Given the description of an element on the screen output the (x, y) to click on. 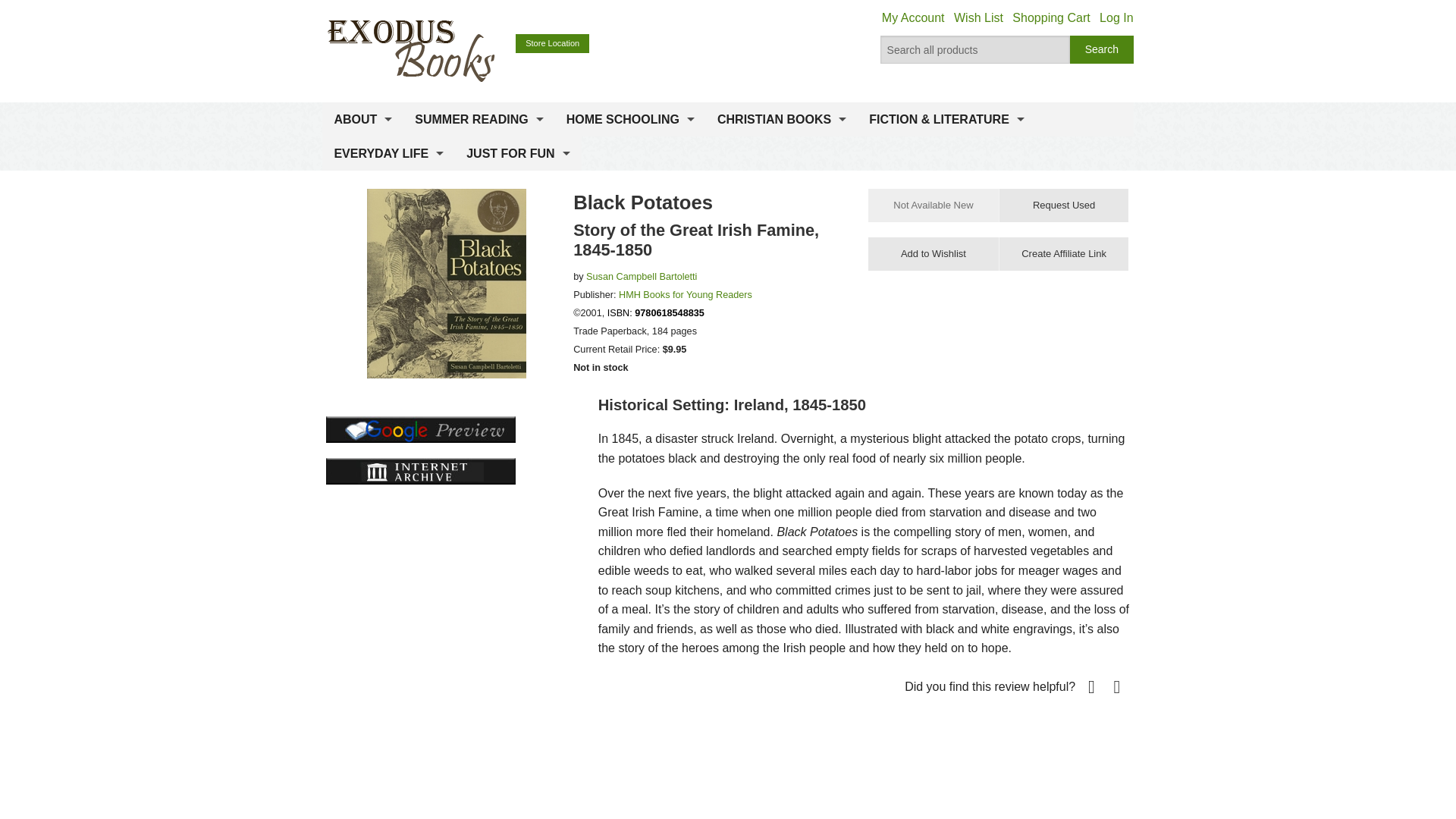
Wish List (978, 17)
request used (1063, 205)
SUMMER READING (478, 119)
not available new (932, 205)
Add to Wishlist (932, 254)
Request Used (1063, 205)
Search (1102, 49)
Search (1102, 49)
Store Location (552, 43)
EVERYDAY LIFE (387, 153)
